Given the description of an element on the screen output the (x, y) to click on. 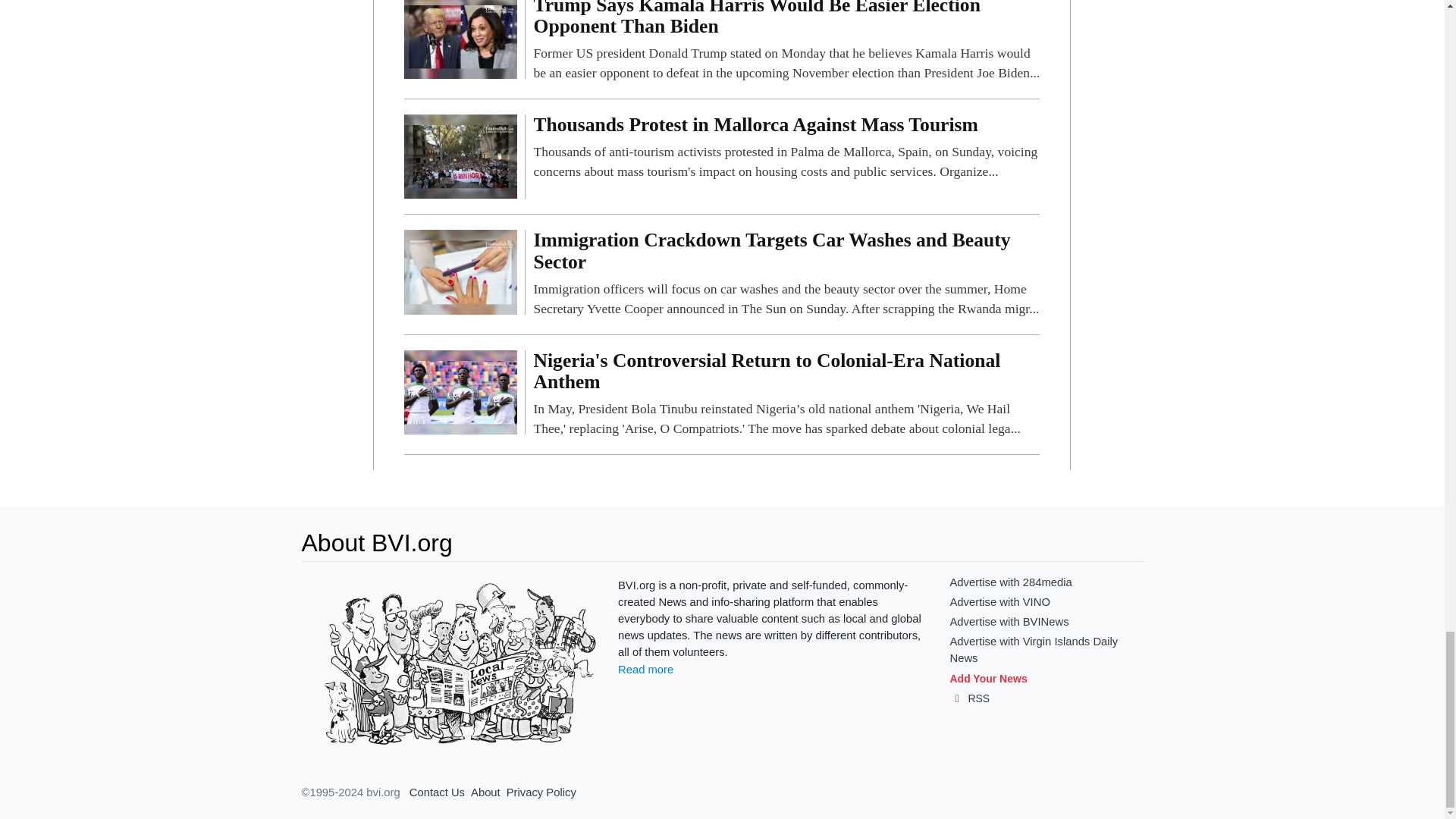
Immigration Crackdown Targets Car Washes and Beauty Sector (785, 274)
Thousands Protest in Mallorca Against Mass Tourism (460, 155)
Thousands Protest in Mallorca Against Mass Tourism (785, 147)
Immigration Crackdown Targets Car Washes and Beauty Sector (460, 271)
